Given the description of an element on the screen output the (x, y) to click on. 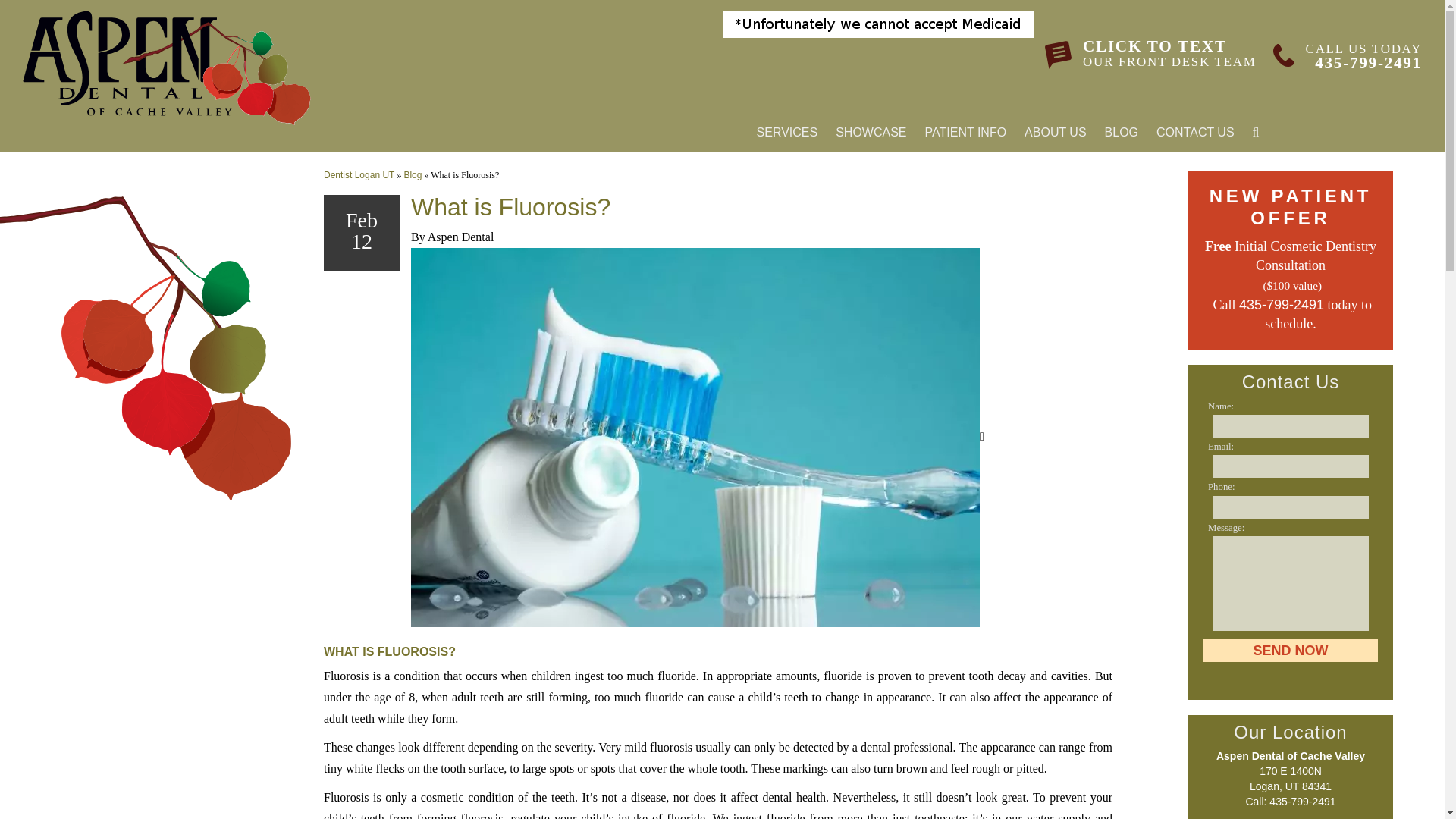
Aspen Dental of Cache Valley (1156, 54)
What is Fluorosis? (167, 68)
Send Now (871, 132)
SERVICES (1290, 650)
ABOUT US (787, 132)
435-799-2491 (1055, 132)
PATIENT INFO (1368, 62)
